Given the description of an element on the screen output the (x, y) to click on. 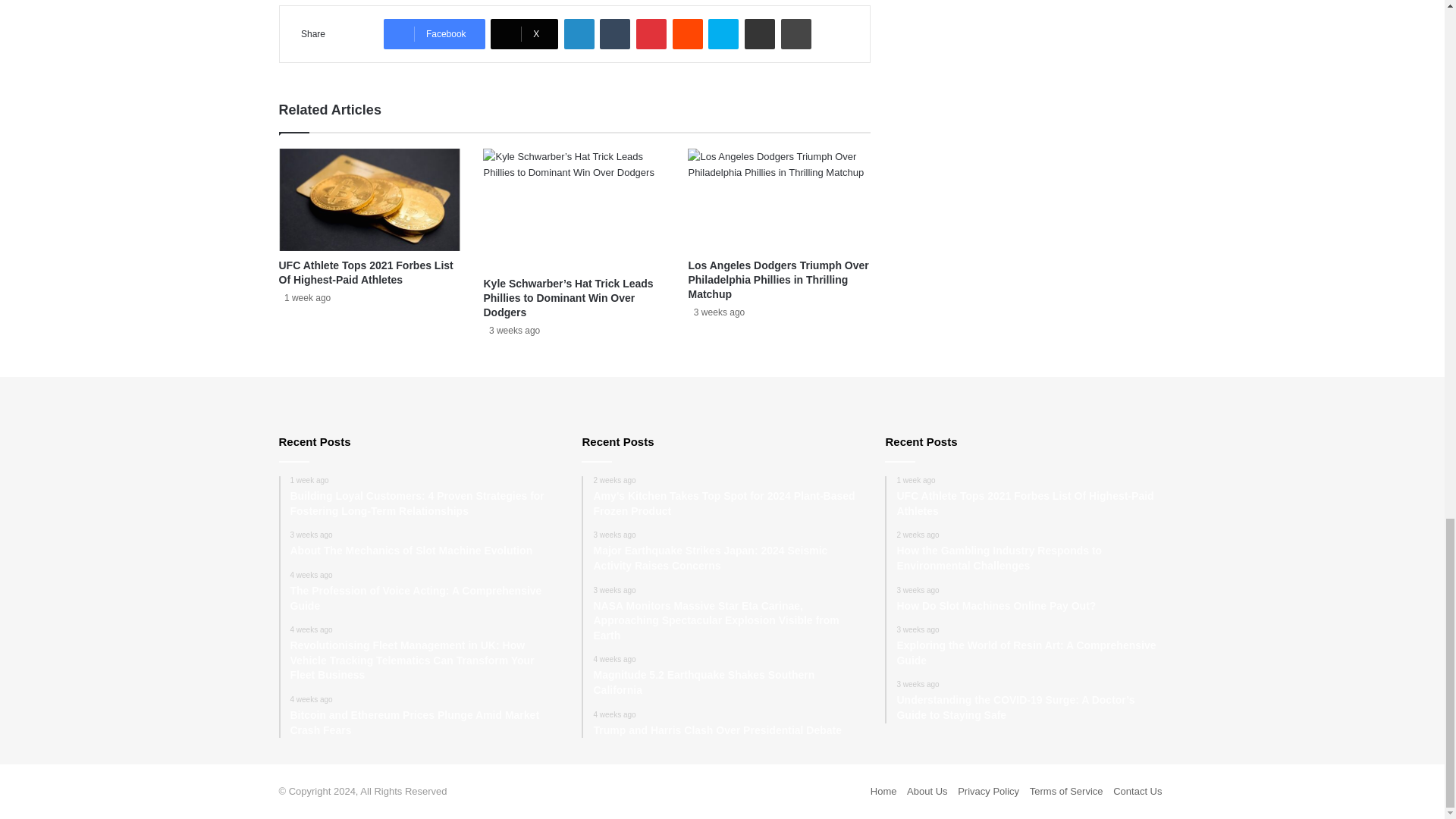
X (523, 33)
Facebook (434, 33)
X (523, 33)
Reddit (687, 33)
Tumblr (614, 33)
Reddit (687, 33)
Facebook (434, 33)
Pinterest (651, 33)
Tumblr (614, 33)
Skype (722, 33)
